Given the description of an element on the screen output the (x, y) to click on. 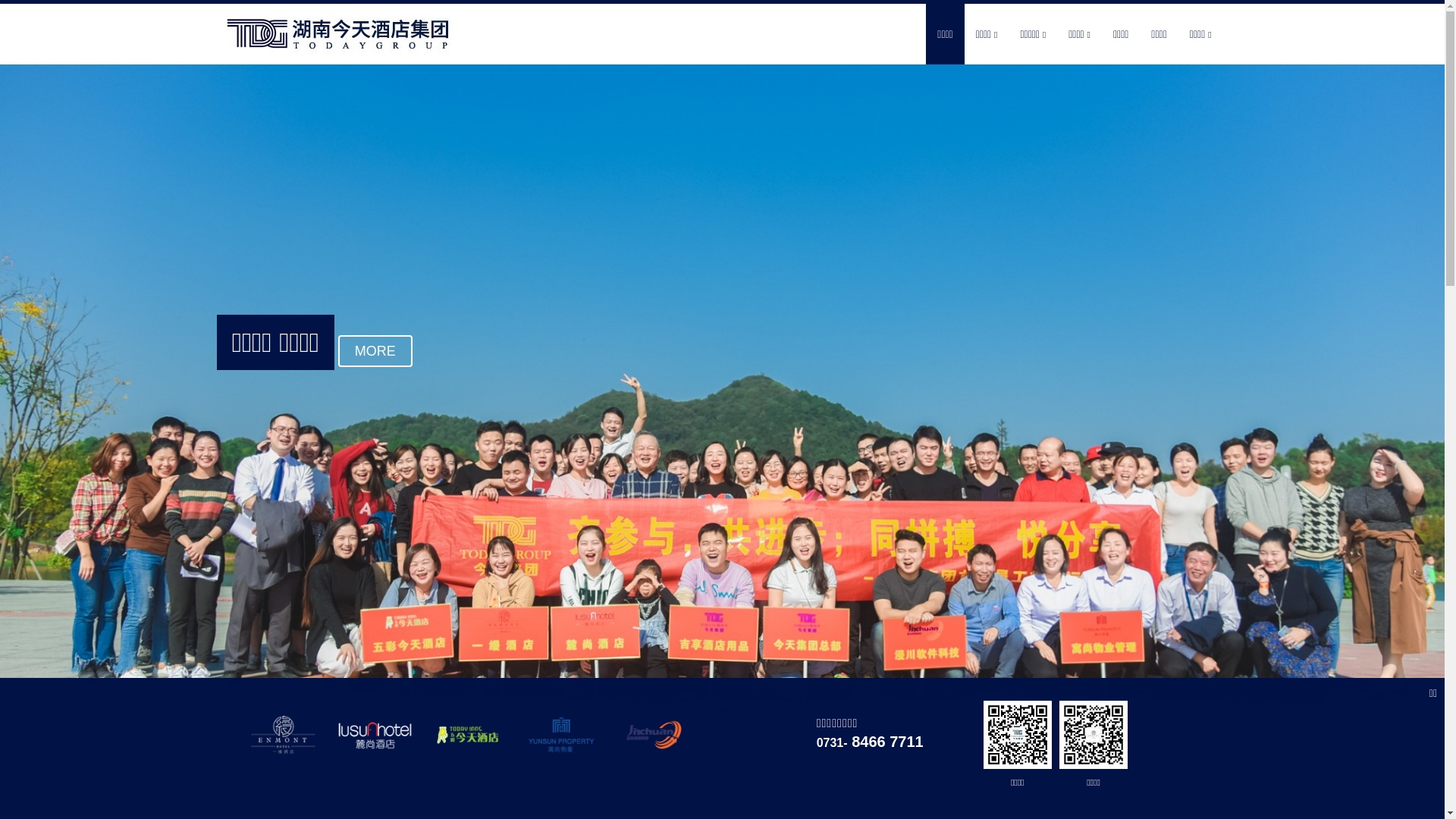
MORE Element type: text (375, 384)
